Given the description of an element on the screen output the (x, y) to click on. 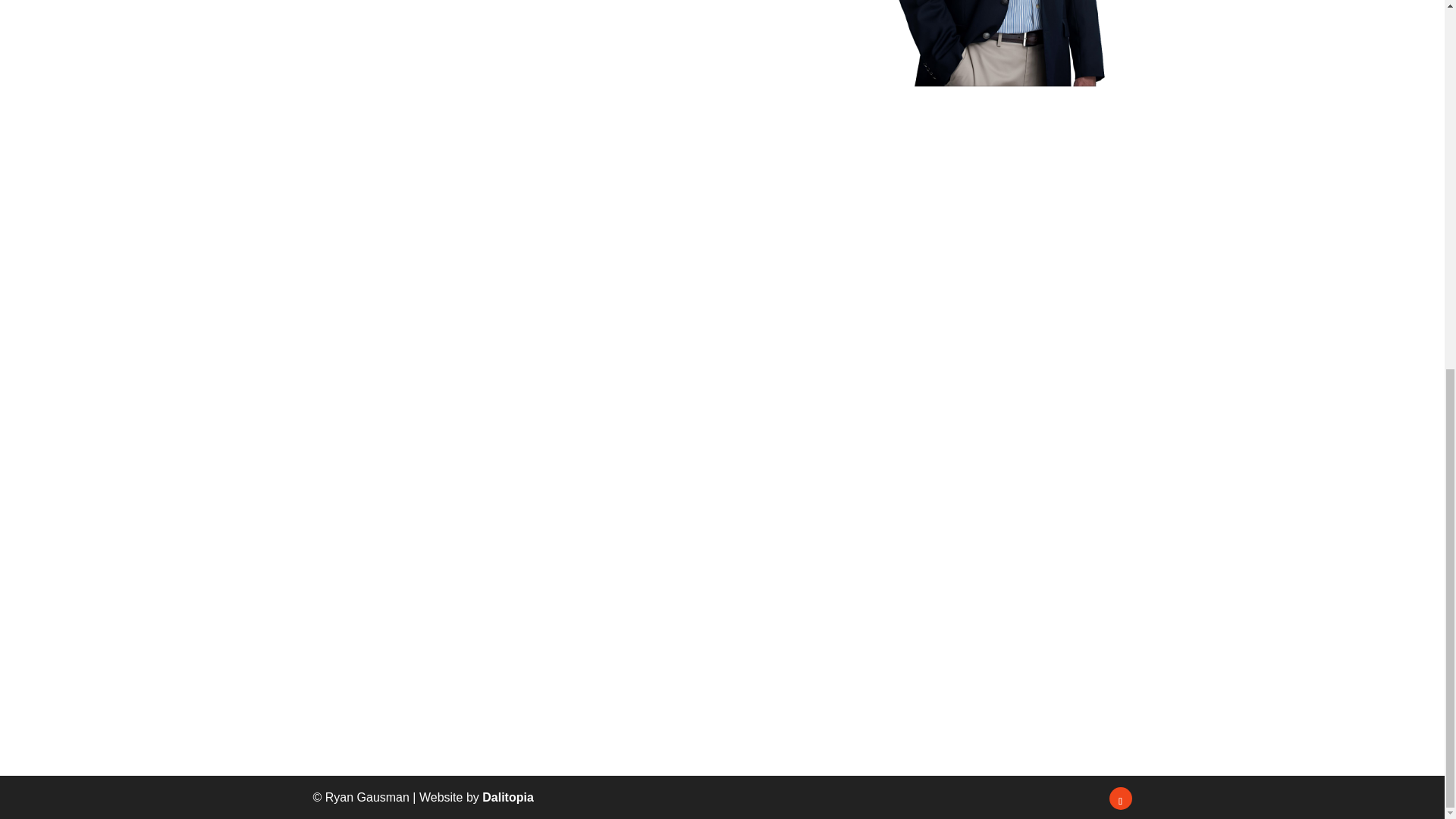
Dalitopia (507, 797)
